Given the description of an element on the screen output the (x, y) to click on. 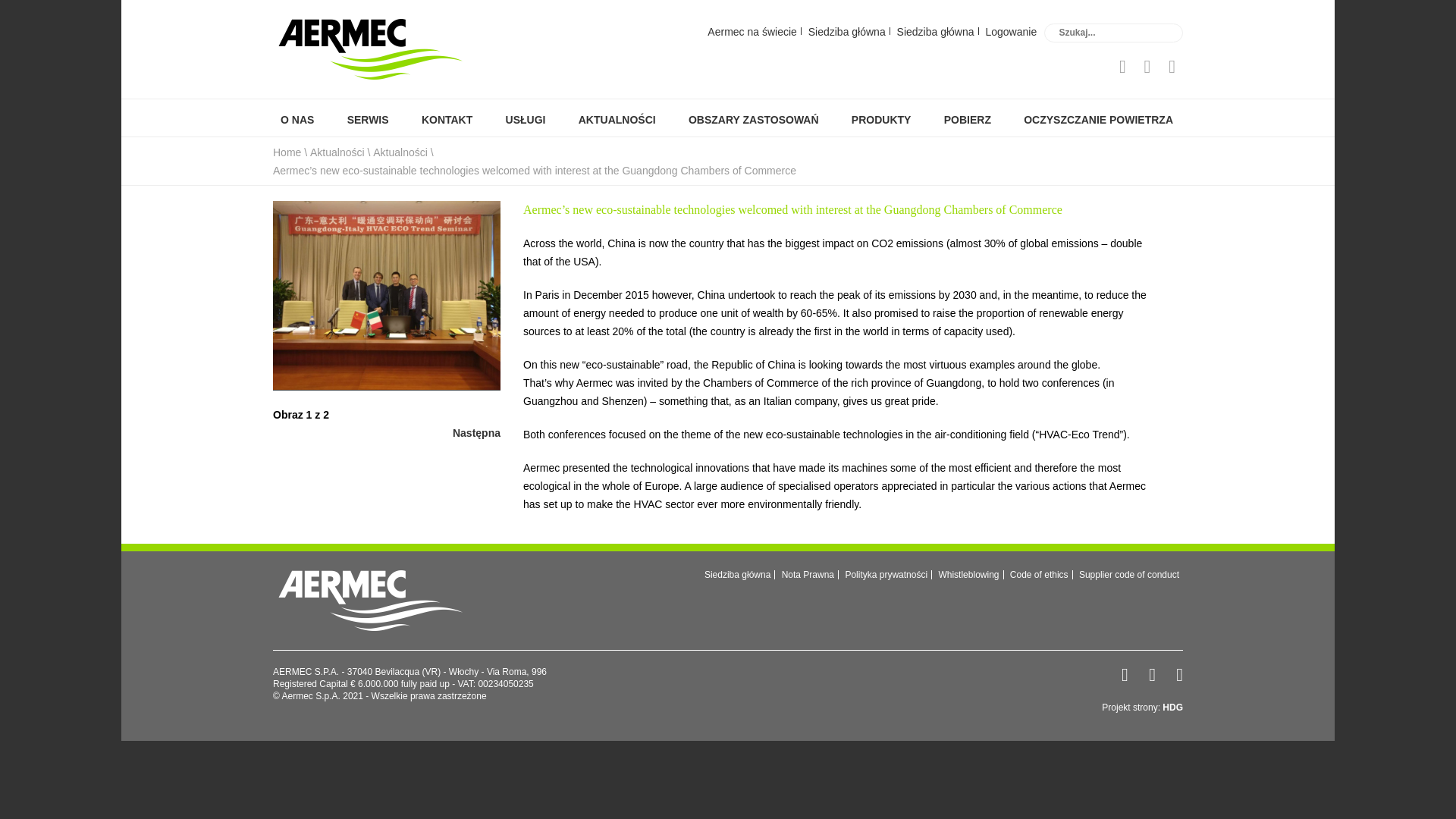
KONTAKT (445, 119)
SERWIS (366, 119)
Logowanie (1010, 31)
O NAS (295, 119)
